Given the description of an element on the screen output the (x, y) to click on. 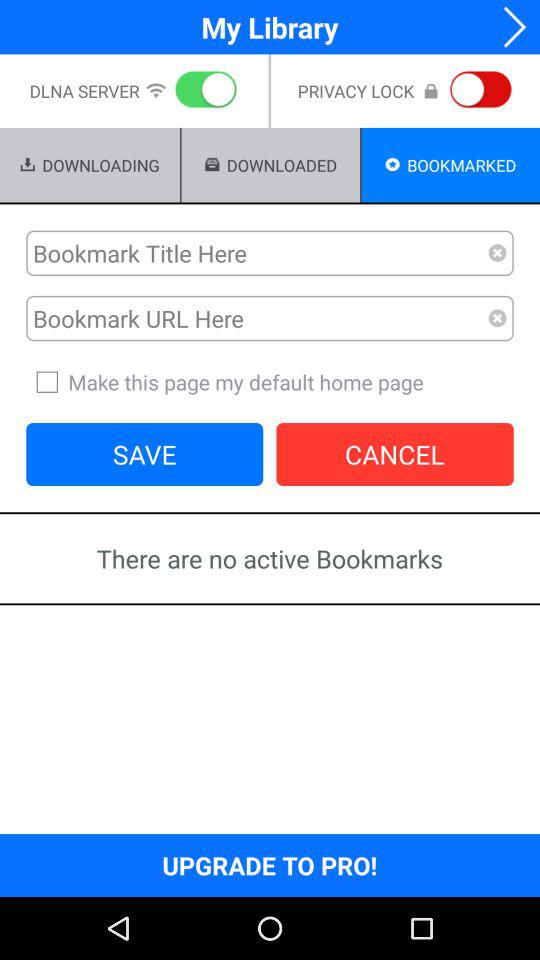
bookmark title box (257, 253)
